Given the description of an element on the screen output the (x, y) to click on. 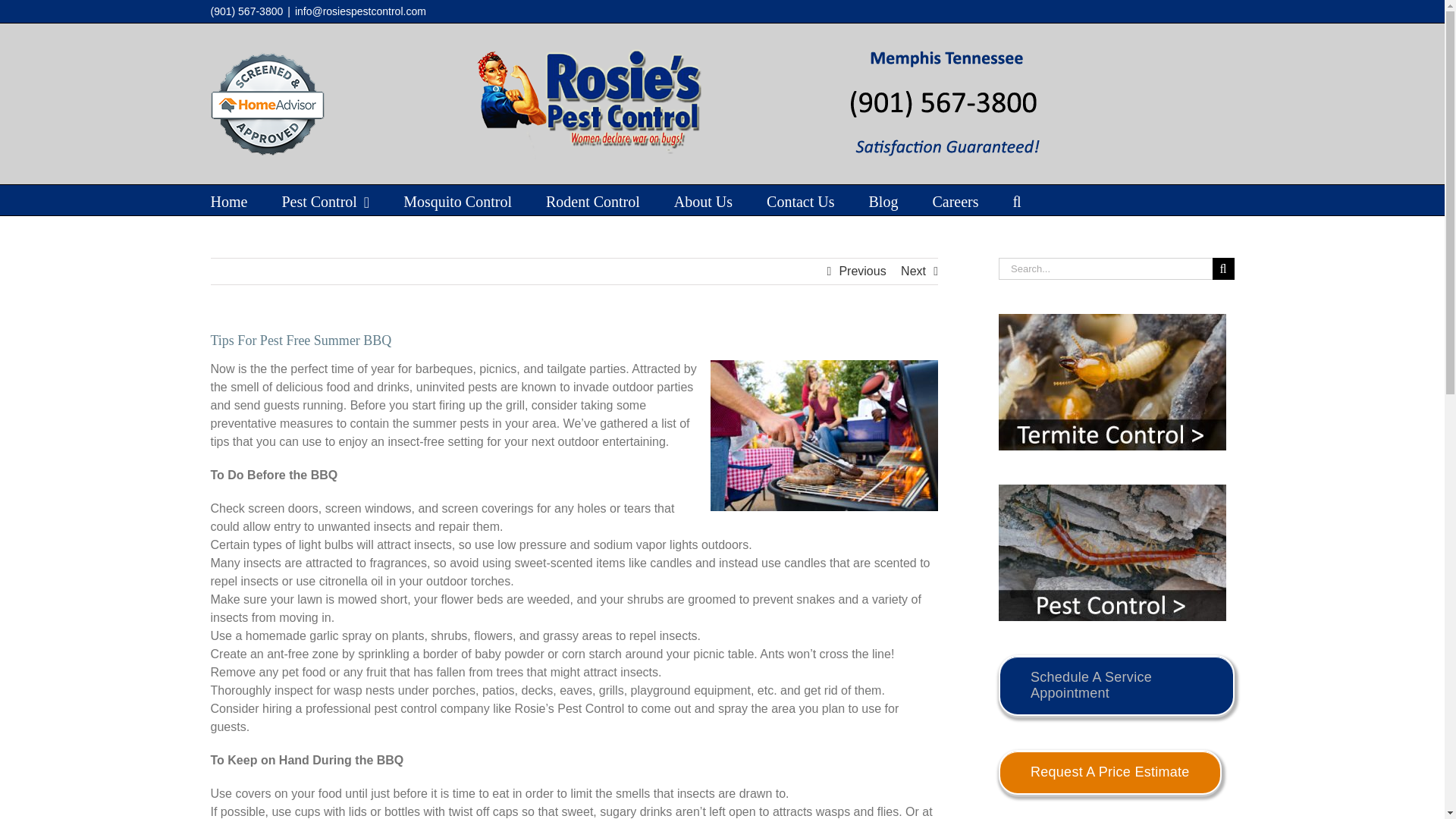
Careers (954, 200)
Mosquito Control (457, 200)
Next (913, 271)
Pest Control (325, 200)
Blog (883, 200)
About Us (703, 200)
Rodent Control (593, 200)
Previous (861, 271)
Contact Us (800, 200)
Home (229, 200)
